Given the description of an element on the screen output the (x, y) to click on. 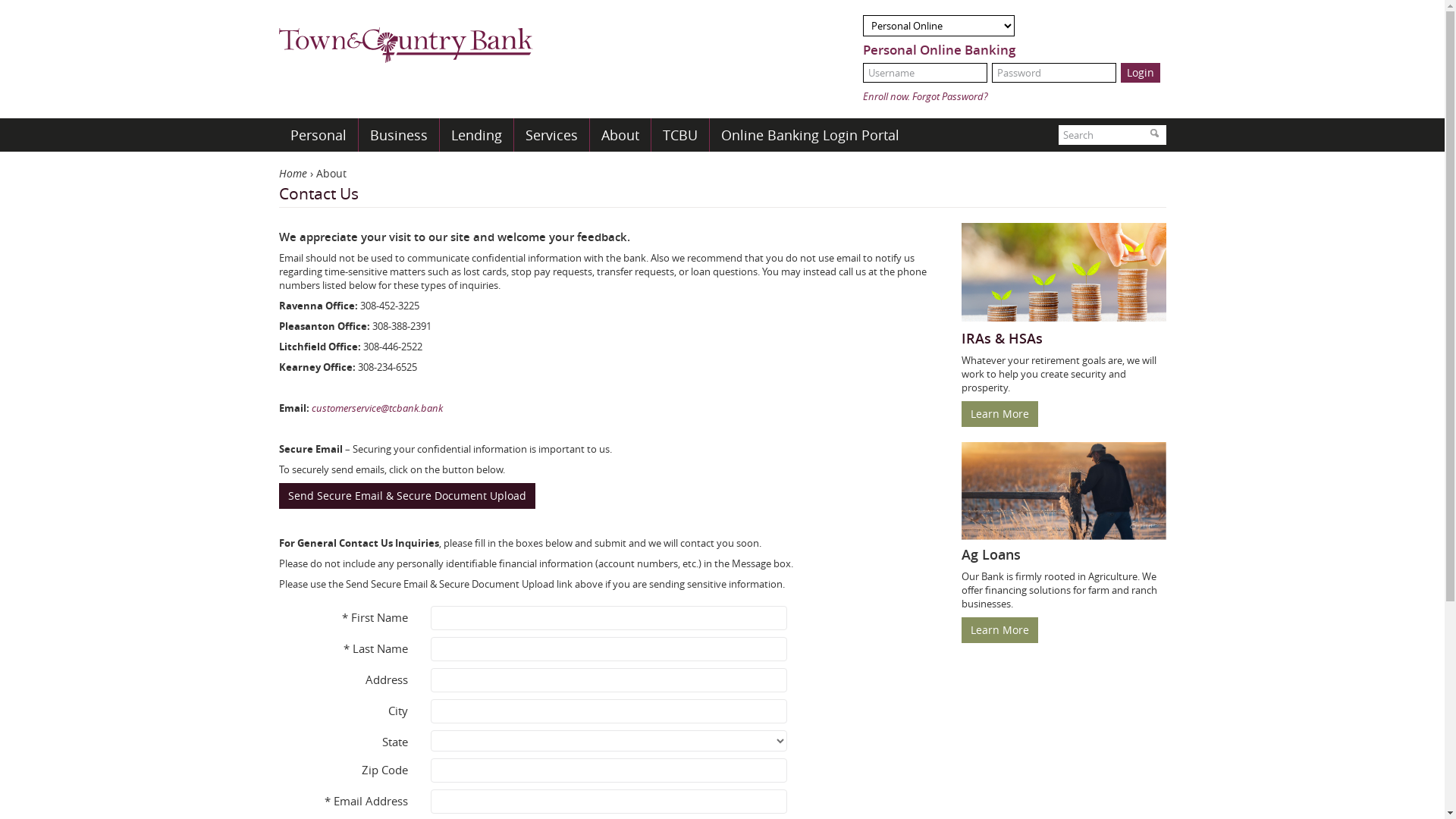
Forgot Password? Element type: text (949, 96)
Enroll now. Element type: text (886, 96)
Town & Country Bank Element type: text (406, 39)
Home Element type: text (293, 173)
Login Element type: text (1140, 72)
Send Secure Email & Secure Document Upload Element type: text (407, 495)
Learn More Element type: text (999, 413)
Learn More Element type: text (999, 630)
customerservice@tcbank.bank Element type: text (376, 407)
Search Element type: text (1153, 134)
